Given the description of an element on the screen output the (x, y) to click on. 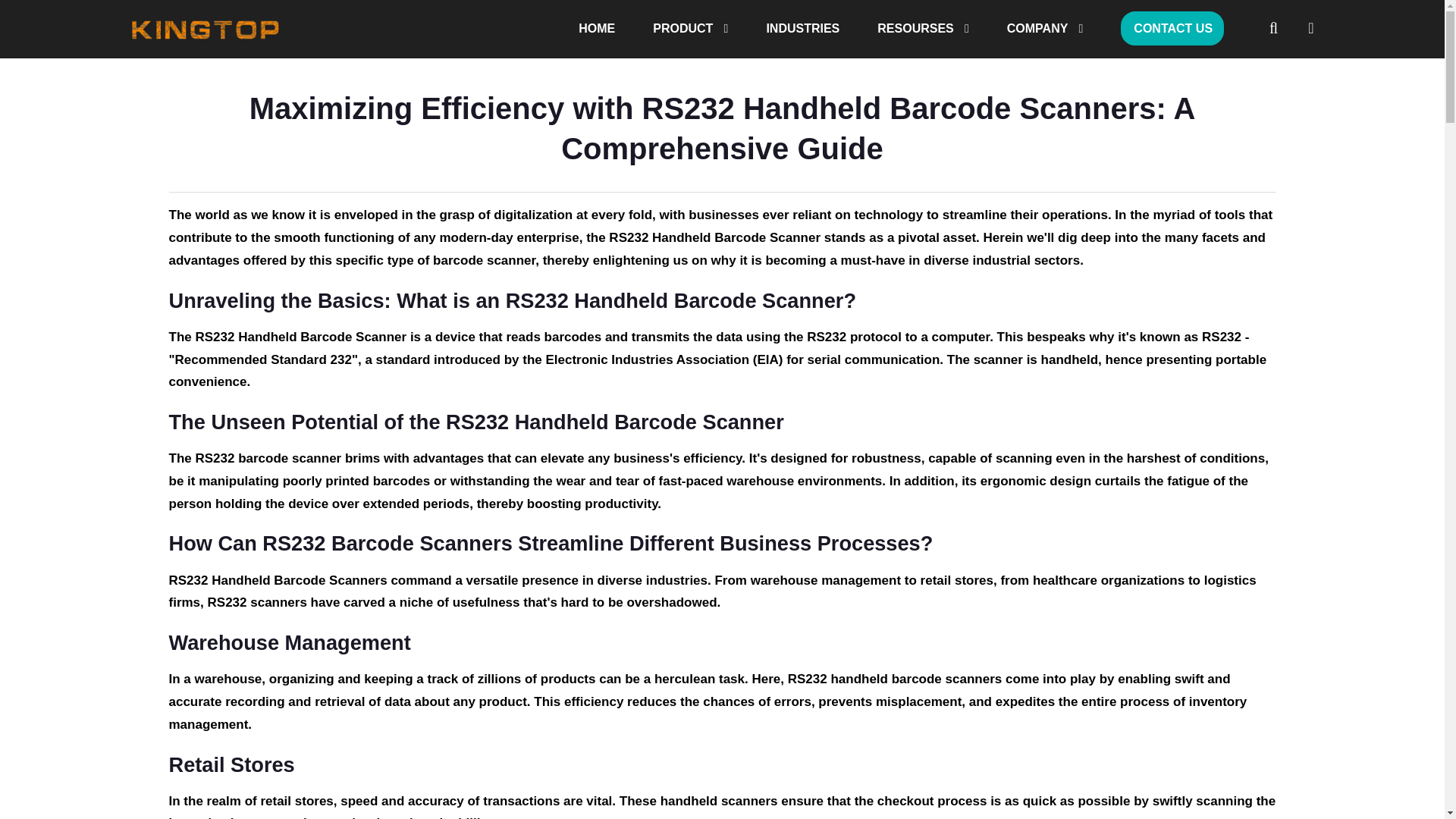
COMPANY (1045, 29)
INDUSTRIES (802, 29)
PRODUCT (690, 29)
RESOURSES (922, 29)
